Given the description of an element on the screen output the (x, y) to click on. 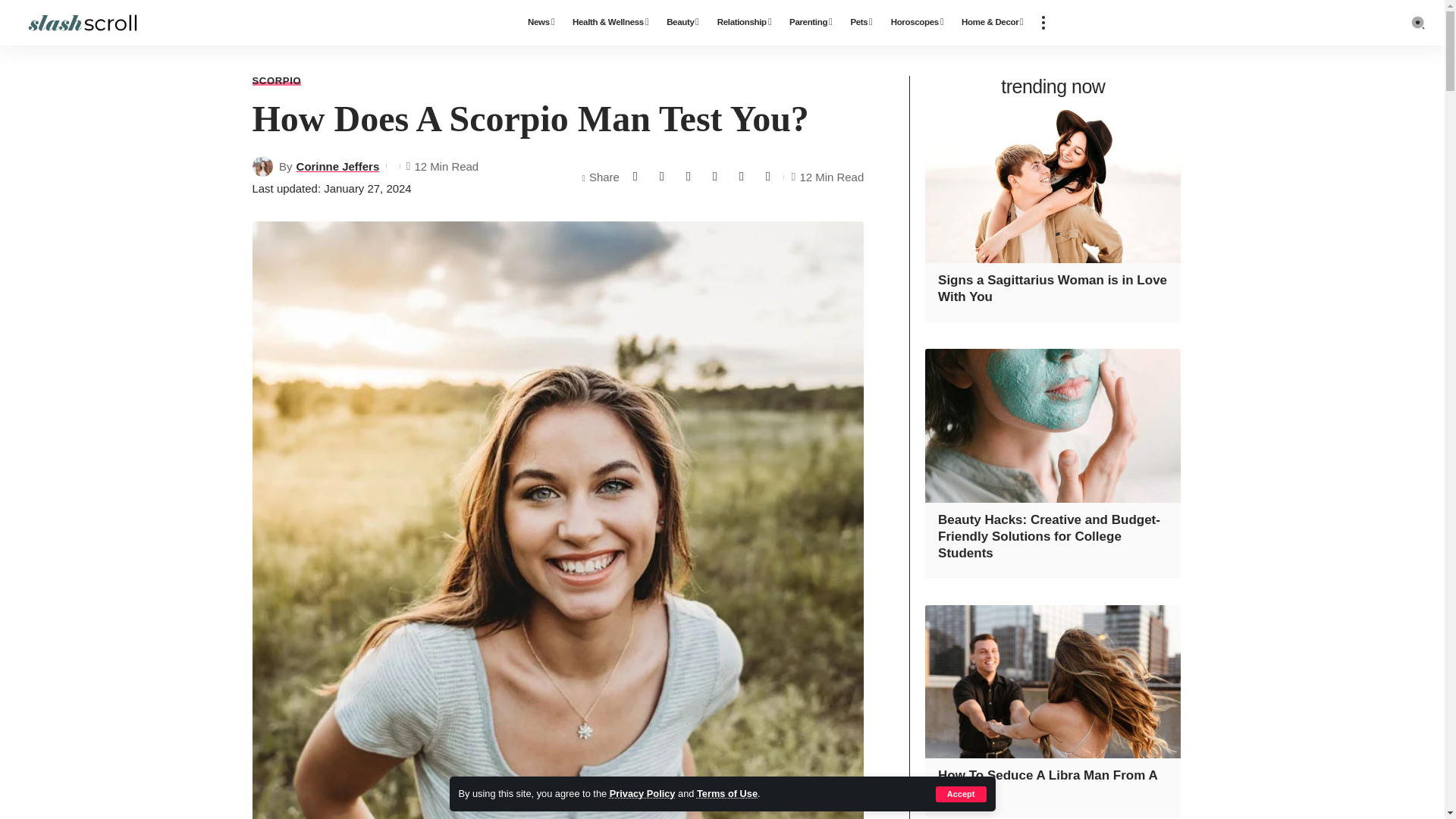
Terms of Use (727, 793)
News (540, 22)
Accept (961, 794)
Beauty (682, 22)
Privacy Policy (642, 793)
